Given the description of an element on the screen output the (x, y) to click on. 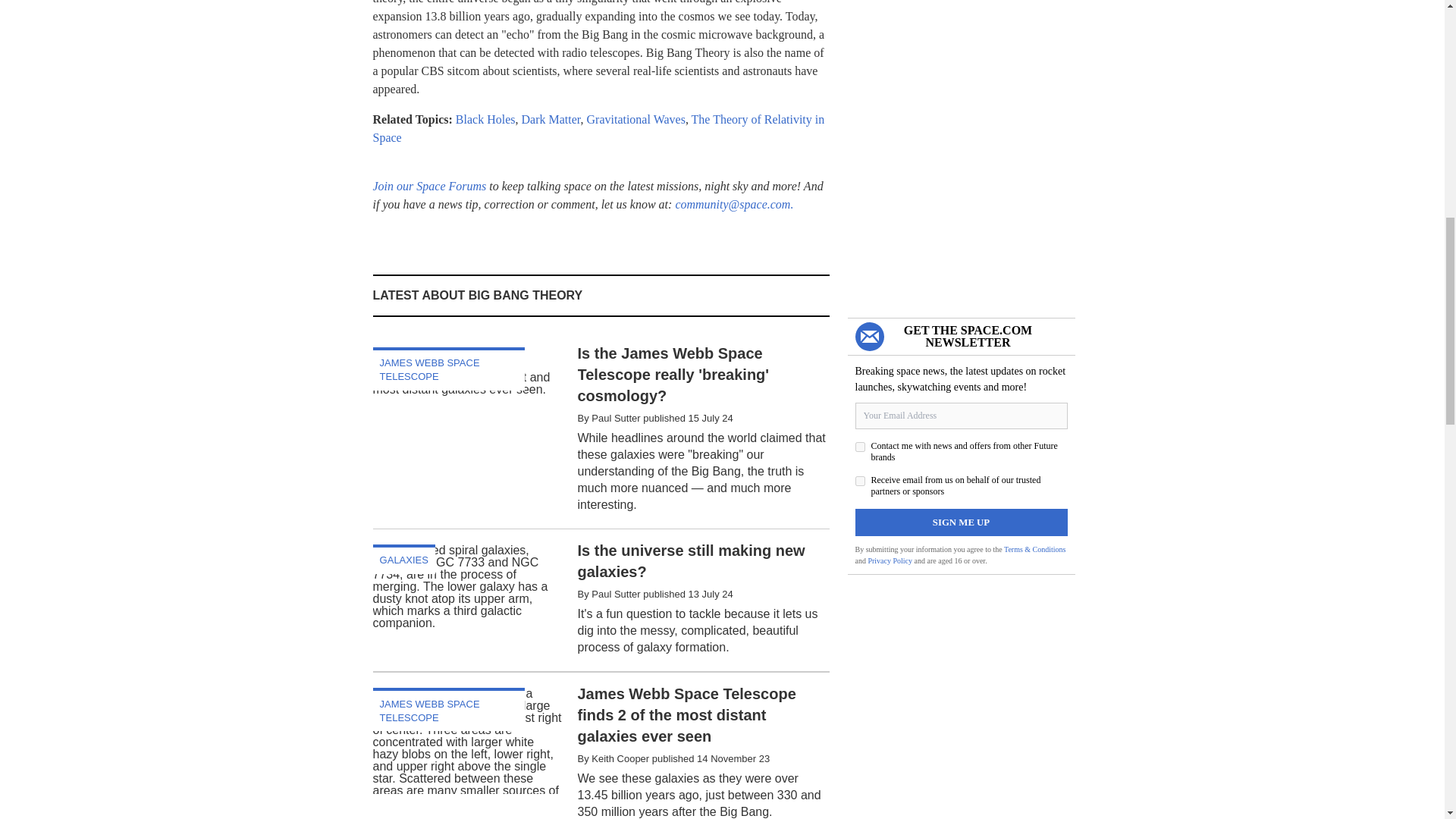
Sign me up (961, 522)
on (860, 480)
on (860, 447)
